Given the description of an element on the screen output the (x, y) to click on. 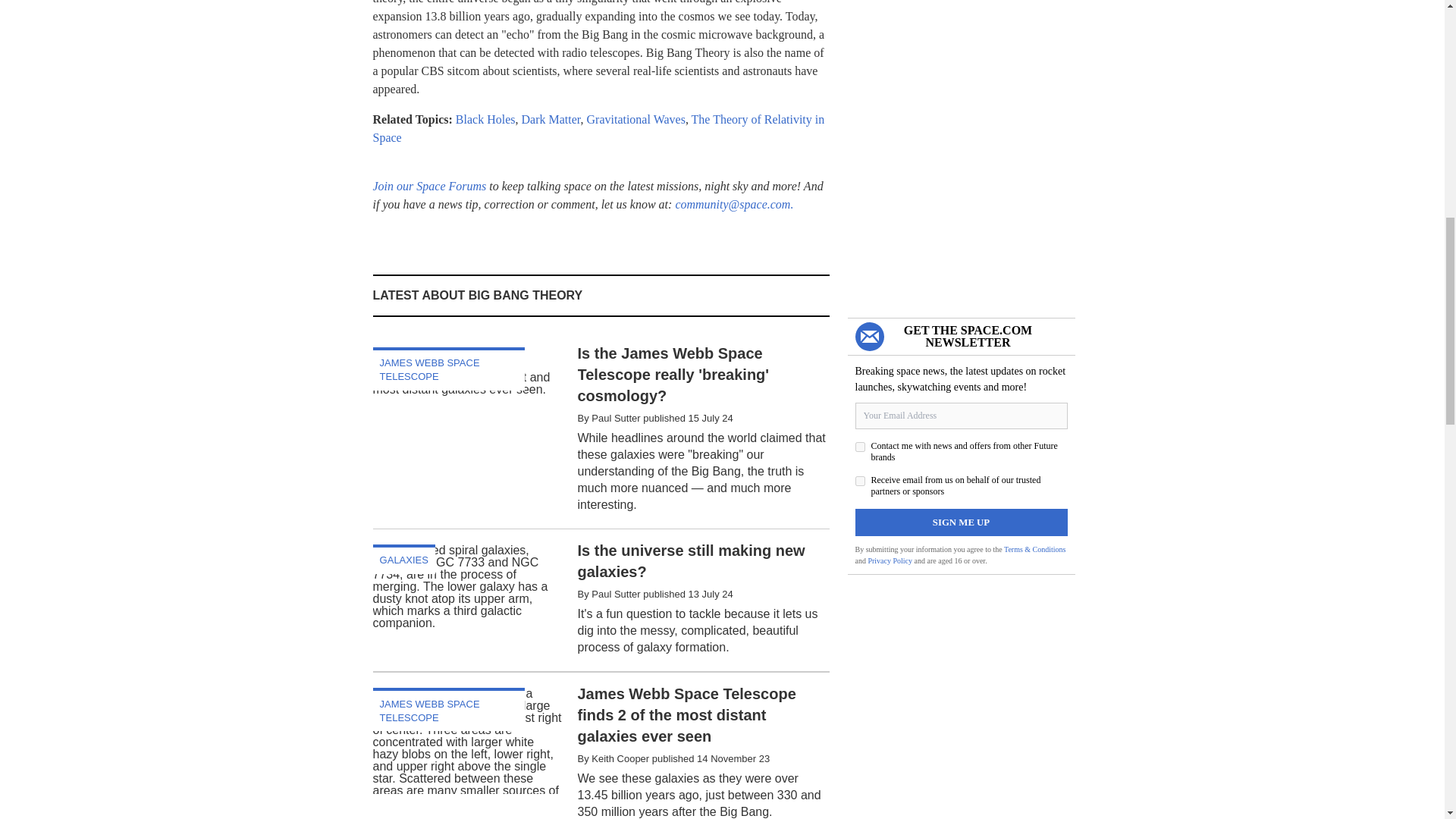
Sign me up (961, 522)
on (860, 480)
on (860, 447)
